Given the description of an element on the screen output the (x, y) to click on. 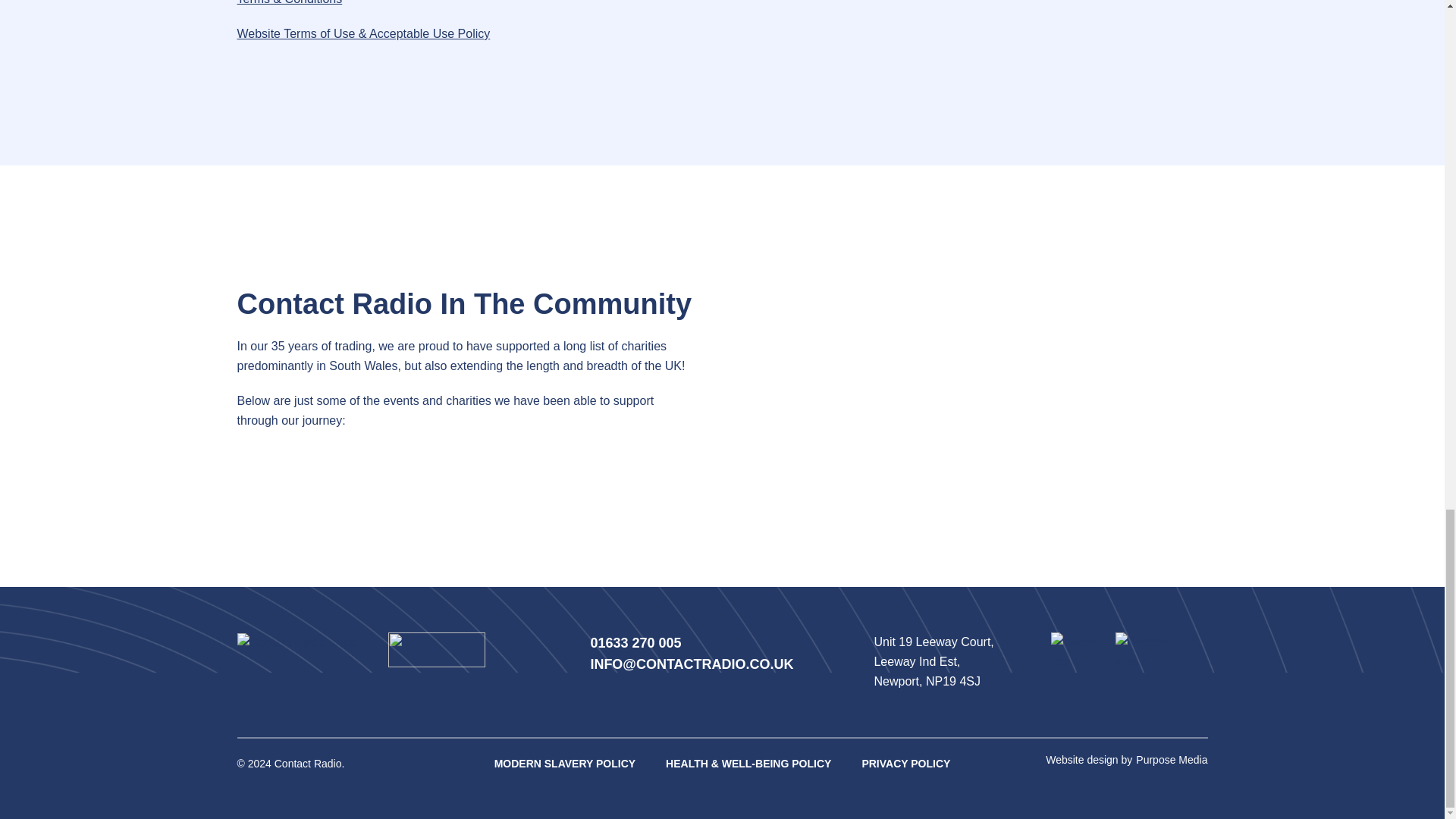
Link to Purpose Media Web Design (1171, 759)
